Given the description of an element on the screen output the (x, y) to click on. 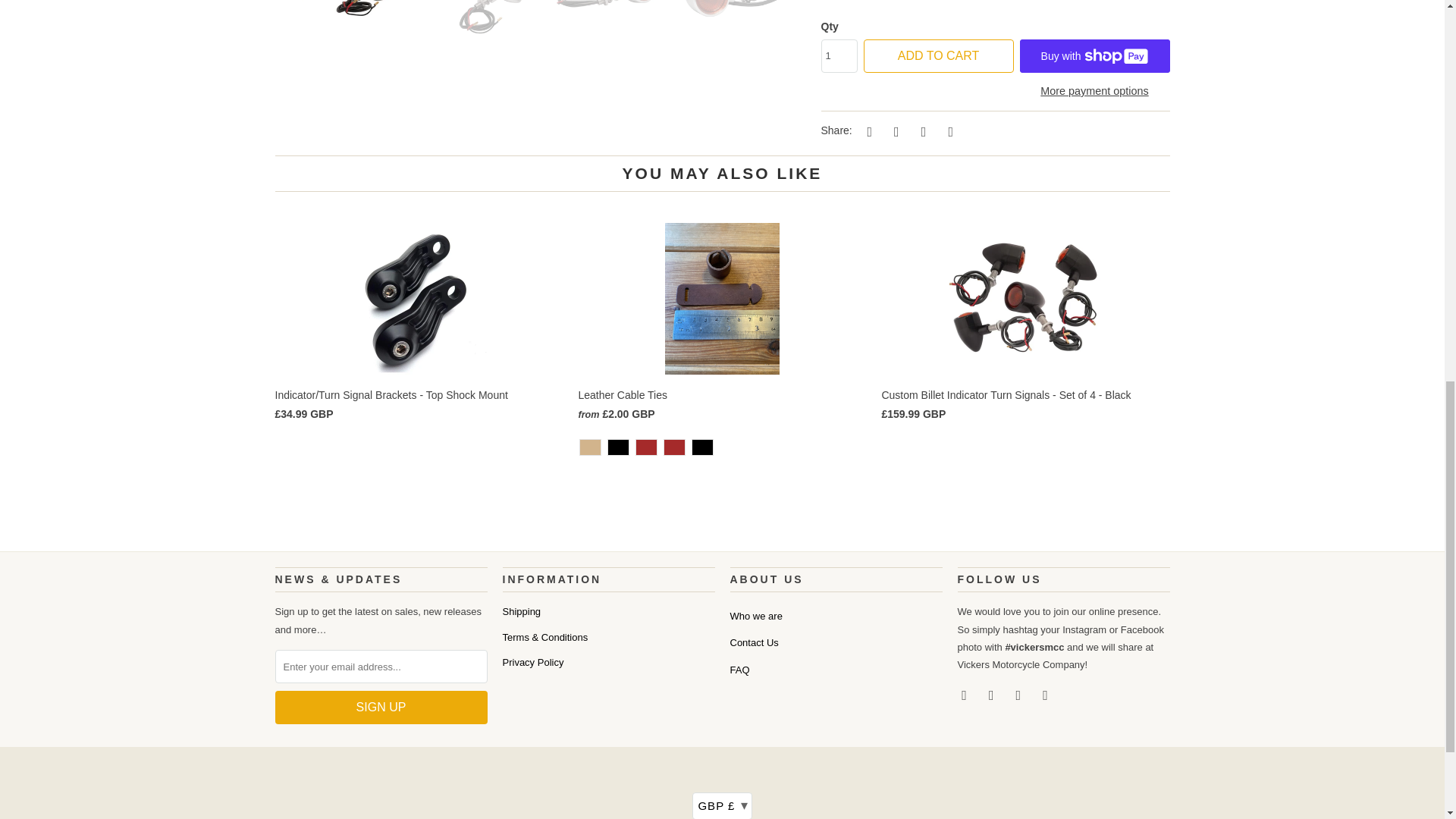
1 (839, 55)
Sign Up (380, 707)
